Given the description of an element on the screen output the (x, y) to click on. 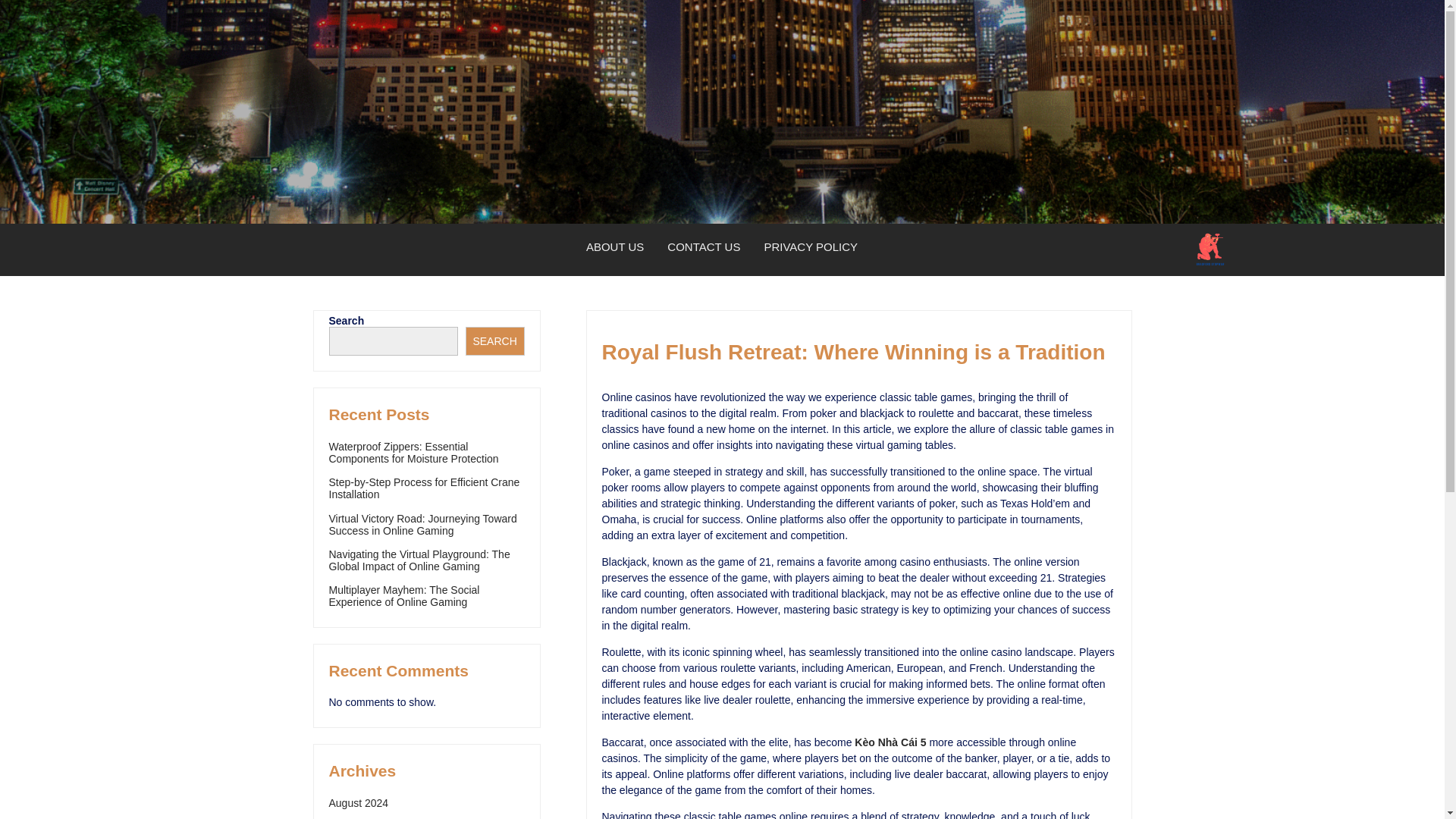
SEARCH (494, 340)
August 2024 (358, 802)
ABOUT US (615, 247)
PRIVACY POLICY (810, 247)
Multiplayer Mayhem: The Social Experience of Online Gaming (404, 595)
CONTACT US (704, 247)
Step-by-Step Process for Efficient Crane Installation (424, 487)
